Given the description of an element on the screen output the (x, y) to click on. 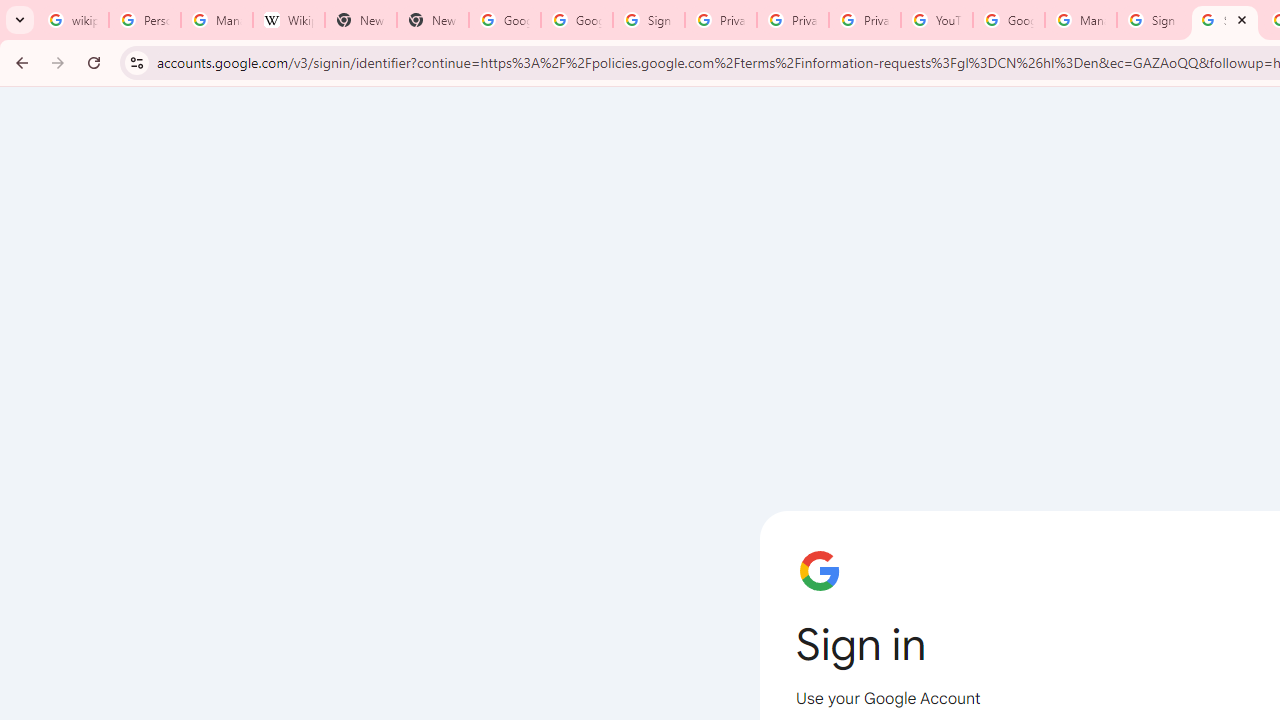
Sign in - Google Accounts (1153, 20)
Manage your Location History - Google Search Help (216, 20)
Wikipedia:Edit requests - Wikipedia (289, 20)
Google Account Help (1008, 20)
YouTube (936, 20)
New Tab (360, 20)
Google Drive: Sign-in (577, 20)
New Tab (432, 20)
